Given the description of an element on the screen output the (x, y) to click on. 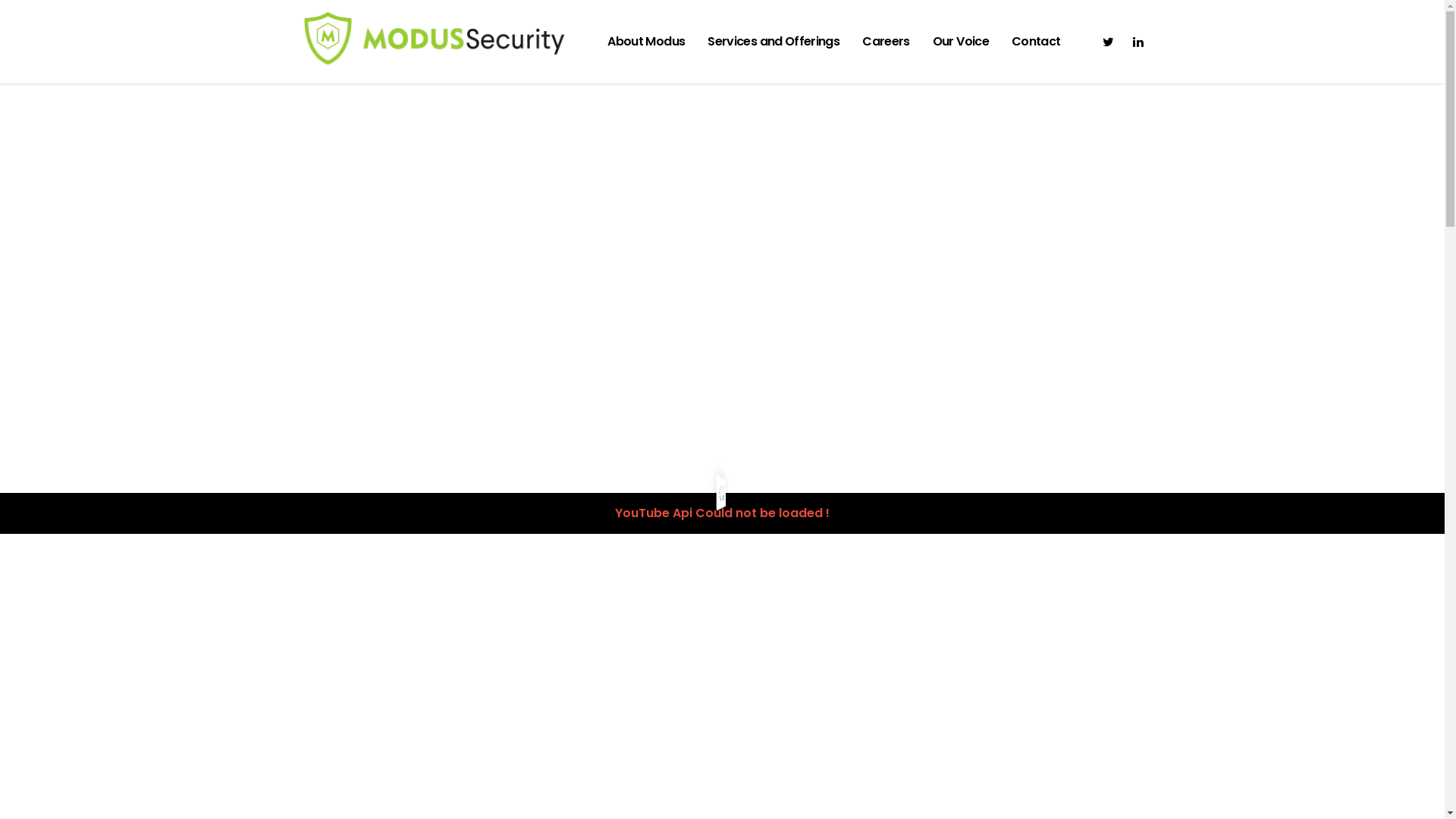
About Modus Element type: text (646, 41)
Contact Element type: text (1036, 41)
Careers Element type: text (885, 41)
Services and Offerings Element type: text (773, 41)
Our Voice Element type: text (960, 41)
